Given the description of an element on the screen output the (x, y) to click on. 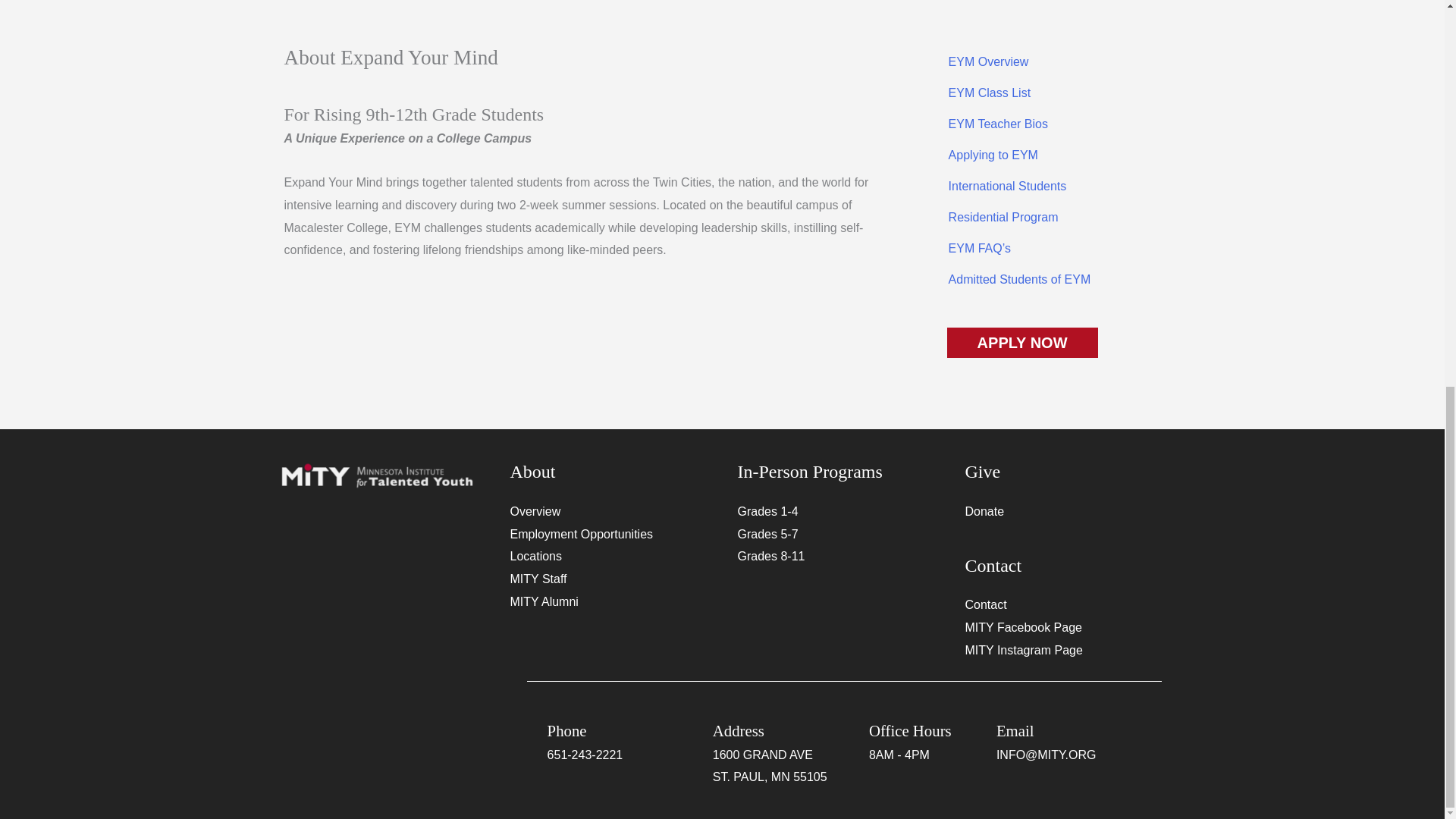
International Students (1044, 185)
MITY Staff (537, 578)
EYM Teacher Bios (1044, 124)
Residential Program (1044, 216)
Employment Opportunities  (582, 533)
EYM Overview (1044, 62)
APPLY NOW (1022, 342)
EYM Class List (1044, 93)
MITY Alumni (543, 601)
Admitted Students of EYM (1044, 279)
